Given the description of an element on the screen output the (x, y) to click on. 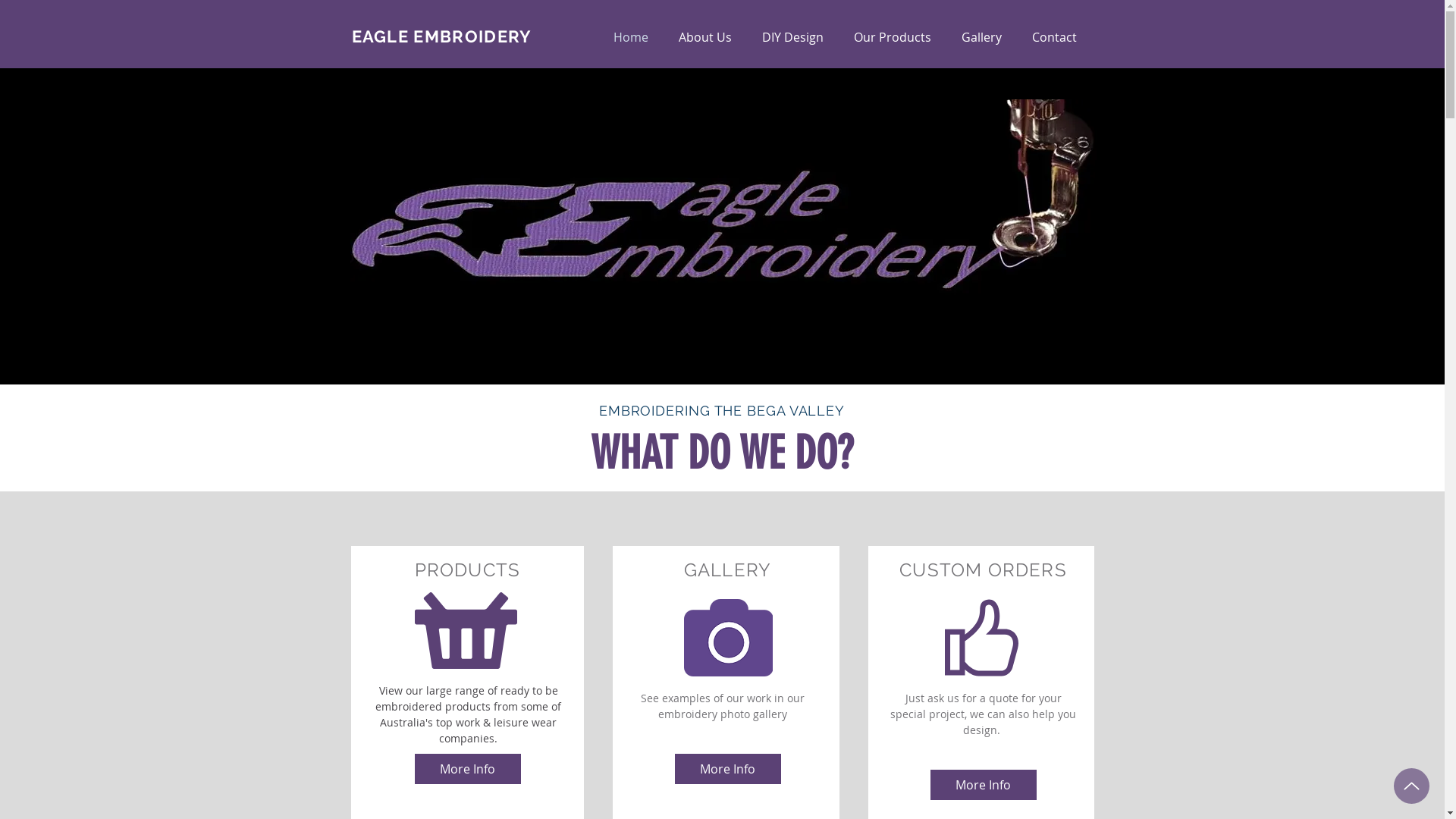
EAGLE EMBROIDERY Element type: text (441, 36)
More Info Element type: text (467, 768)
DIY Design Element type: text (791, 37)
Our Products Element type: text (892, 37)
Contact Element type: text (1053, 37)
Eagle Embroidery Element type: hover (723, 234)
More Info Element type: text (727, 768)
Gallery Element type: text (981, 37)
About Us Element type: text (704, 37)
More Info Element type: text (982, 784)
Home Element type: text (629, 37)
